Given the description of an element on the screen output the (x, y) to click on. 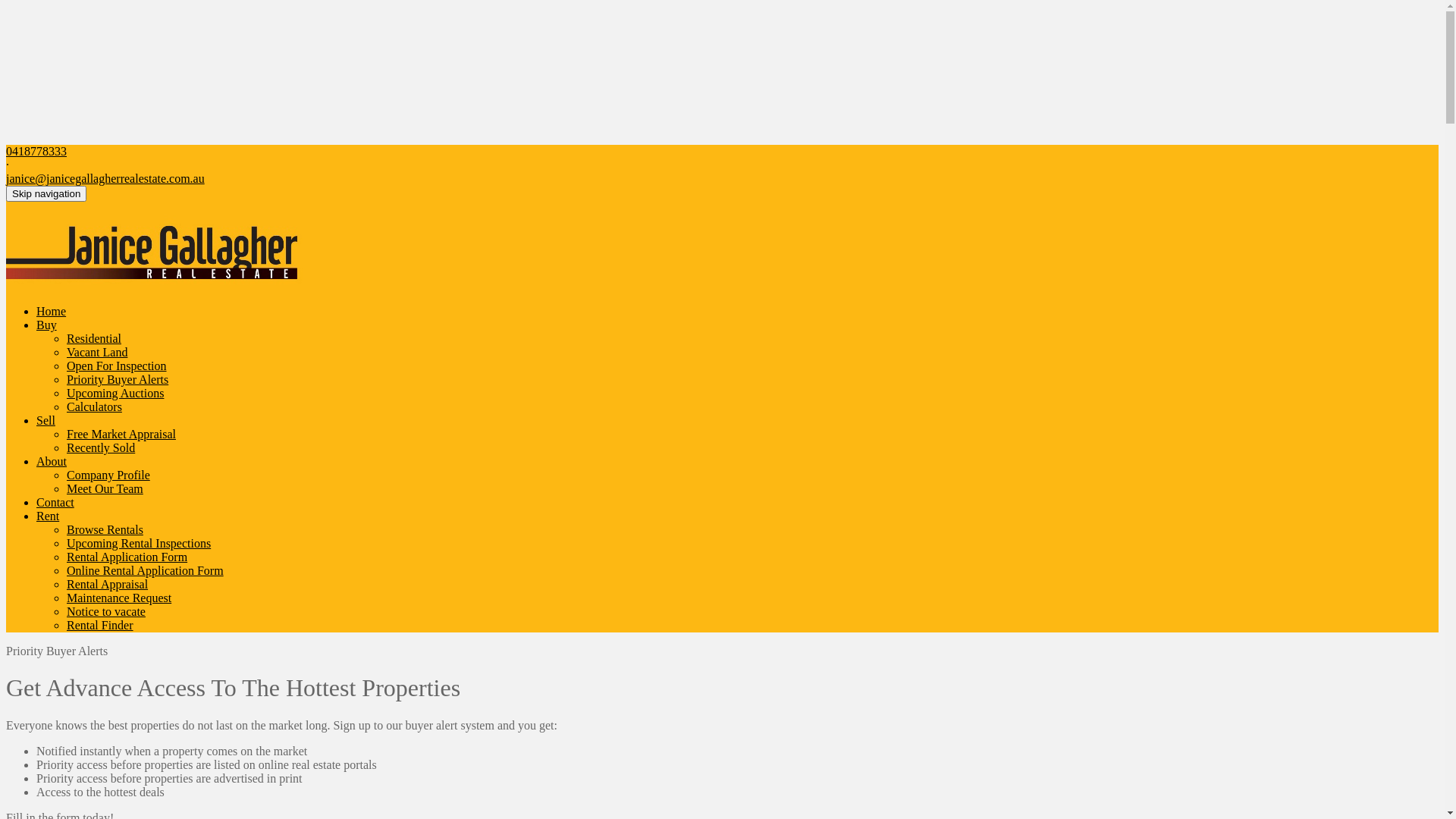
Online Rental Application Form Element type: text (144, 570)
Vacant Land Element type: text (96, 351)
Rental Application Form Element type: text (126, 556)
Browse Rentals Element type: text (104, 529)
Rent Element type: text (47, 515)
0418778333 Element type: text (36, 150)
Open For Inspection Element type: text (116, 365)
Upcoming Auctions Element type: text (114, 392)
Recently Sold Element type: text (100, 447)
About Element type: text (51, 461)
Contact Element type: text (55, 501)
Company Profile Element type: text (108, 474)
Rental Appraisal Element type: text (106, 583)
Calculators Element type: text (94, 406)
Residential Element type: text (93, 338)
Free Market Appraisal Element type: text (120, 433)
Sell Element type: text (45, 420)
Buy Element type: text (46, 324)
Notice to vacate Element type: text (105, 611)
Home Element type: text (50, 310)
janice@janicegallagherrealestate.com.au Element type: text (105, 178)
Maintenance Request Element type: text (118, 597)
Priority Buyer Alerts Element type: text (117, 379)
Skip navigation Element type: text (46, 193)
Meet Our Team Element type: text (104, 488)
Rental Finder Element type: text (99, 624)
Upcoming Rental Inspections Element type: text (138, 542)
